Given the description of an element on the screen output the (x, y) to click on. 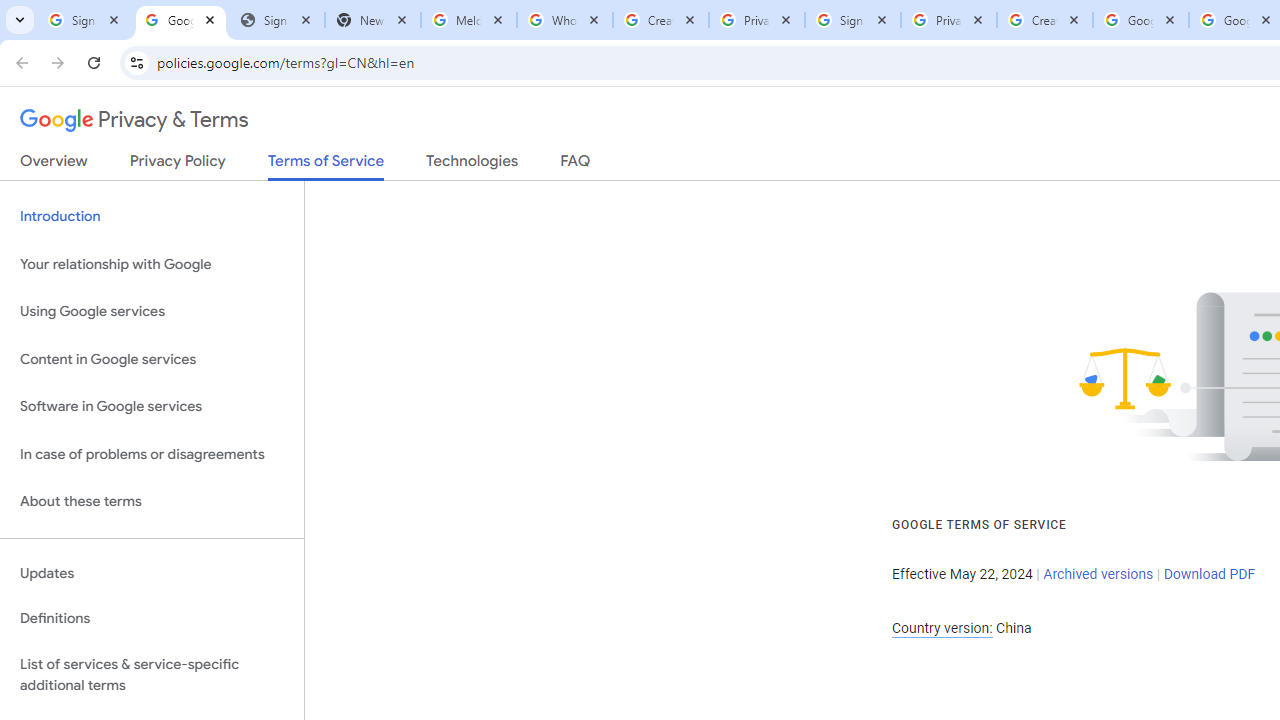
Definitions (152, 619)
About these terms (152, 502)
Privacy & Terms (134, 120)
FAQ (575, 165)
Download PDF (1209, 574)
Search tabs (20, 20)
List of services & service-specific additional terms (152, 674)
Create your Google Account (1045, 20)
Privacy Policy (177, 165)
In case of problems or disagreements (152, 453)
New Tab (373, 20)
Using Google services (152, 312)
Close (1265, 19)
